Given the description of an element on the screen output the (x, y) to click on. 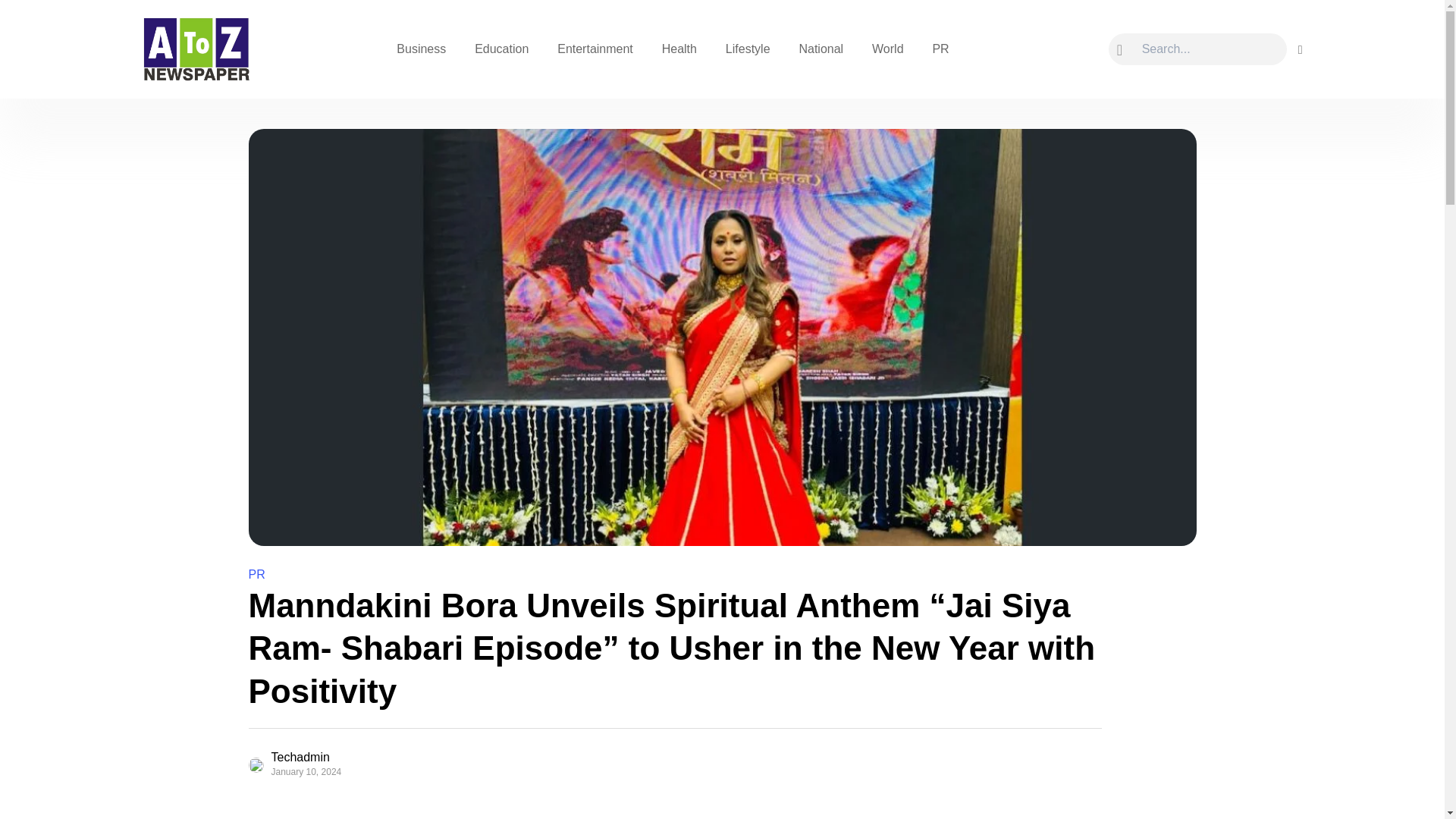
Education (501, 49)
Entertainment (595, 49)
Techadmin (311, 757)
Lifestyle (748, 49)
Health (679, 49)
Business (421, 49)
National (821, 49)
PR (256, 574)
PR (939, 49)
World (888, 49)
